Given the description of an element on the screen output the (x, y) to click on. 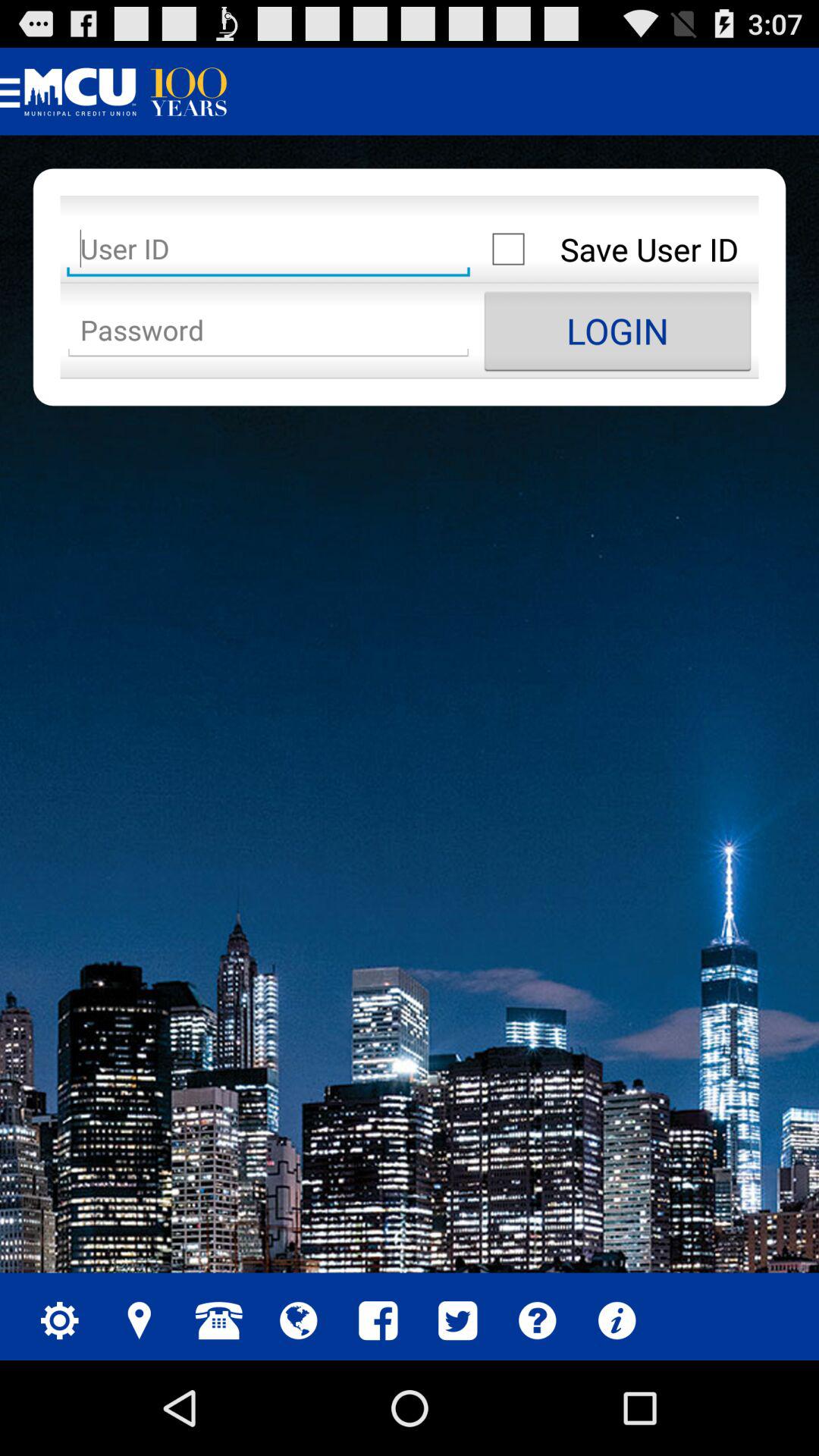
open the save user id icon (617, 248)
